Given the description of an element on the screen output the (x, y) to click on. 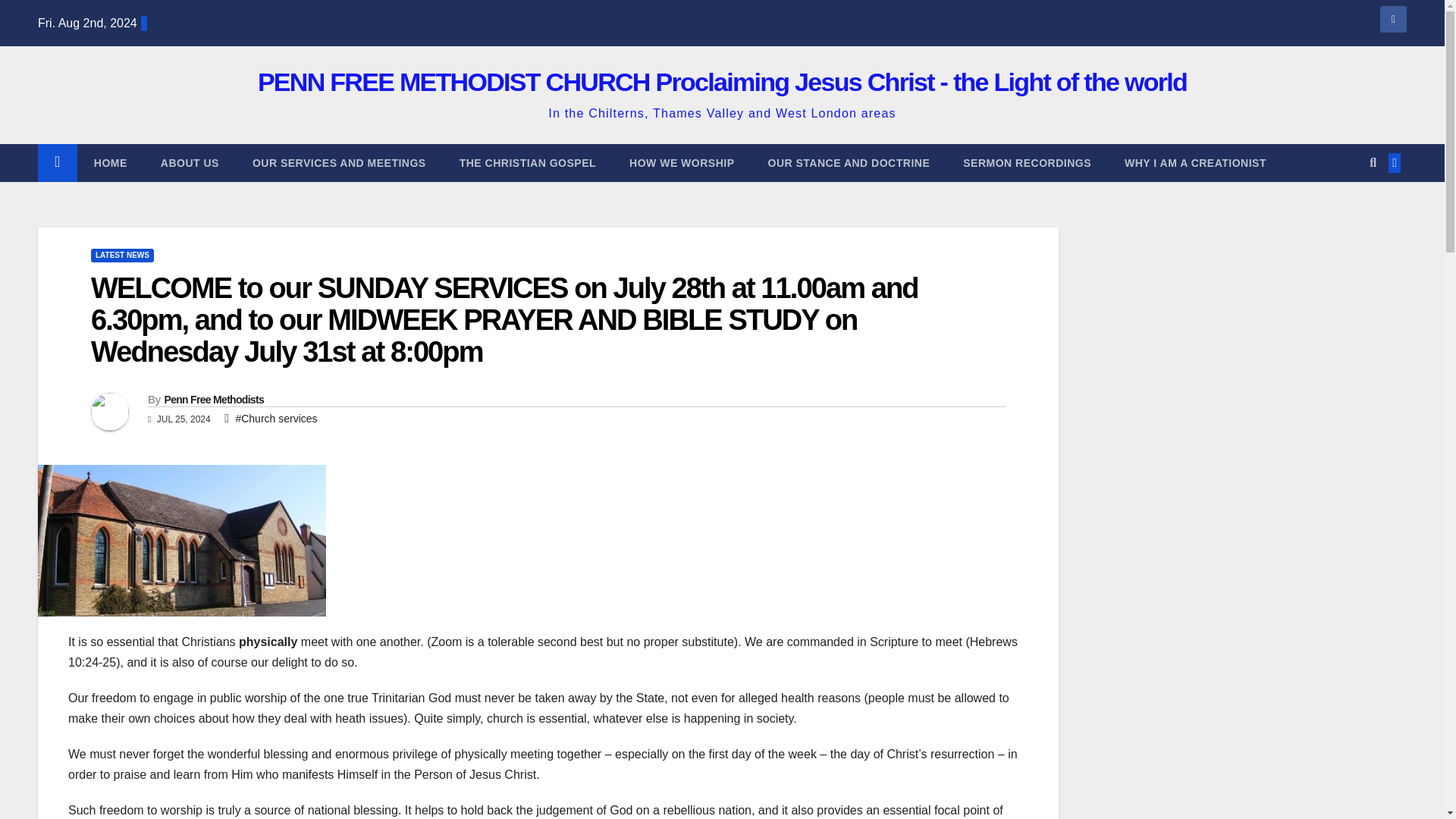
HOW WE WORSHIP (681, 162)
HOW WE WORSHIP (681, 162)
OUR SERVICES AND MEETINGS (338, 162)
WHY I AM A CREATIONIST (1195, 162)
ABOUT US (189, 162)
OUR STANCE AND DOCTRINE (848, 162)
HOME (110, 162)
LATEST NEWS (122, 255)
ABOUT US (189, 162)
THE CHRISTIAN GOSPEL (527, 162)
SERMON RECORDINGS (1027, 162)
OUR SERVICES AND MEETINGS (338, 162)
Penn Free Methodists (213, 399)
